Given the description of an element on the screen output the (x, y) to click on. 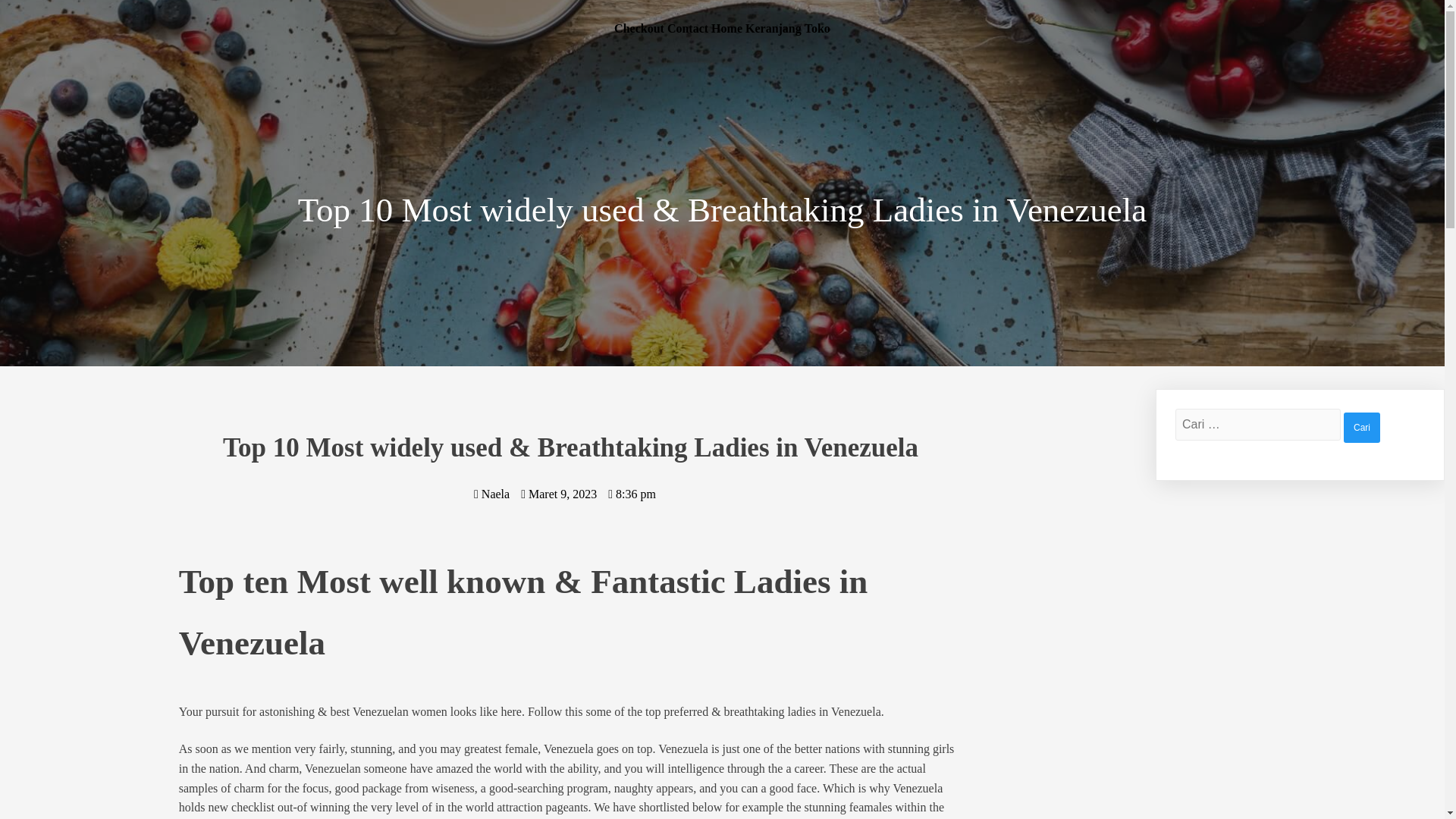
Cari (1361, 427)
Checkout (638, 28)
Keranjang (773, 28)
Naela (491, 493)
Maret 9, 2023 (558, 493)
Cari (1361, 427)
Home (726, 28)
Toko (817, 28)
8:36 pm (632, 493)
Contact (686, 28)
Cari (1361, 427)
